Given the description of an element on the screen output the (x, y) to click on. 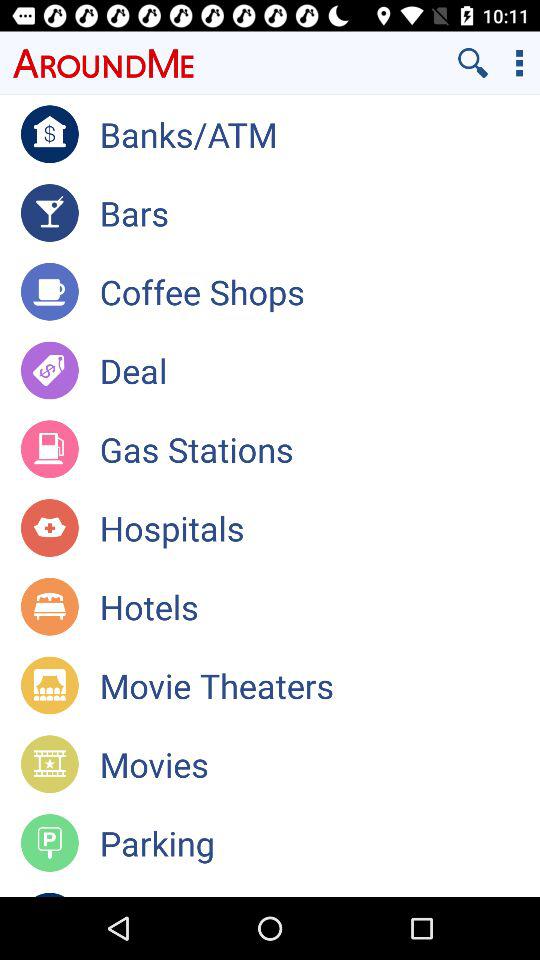
press item below bars item (319, 291)
